Given the description of an element on the screen output the (x, y) to click on. 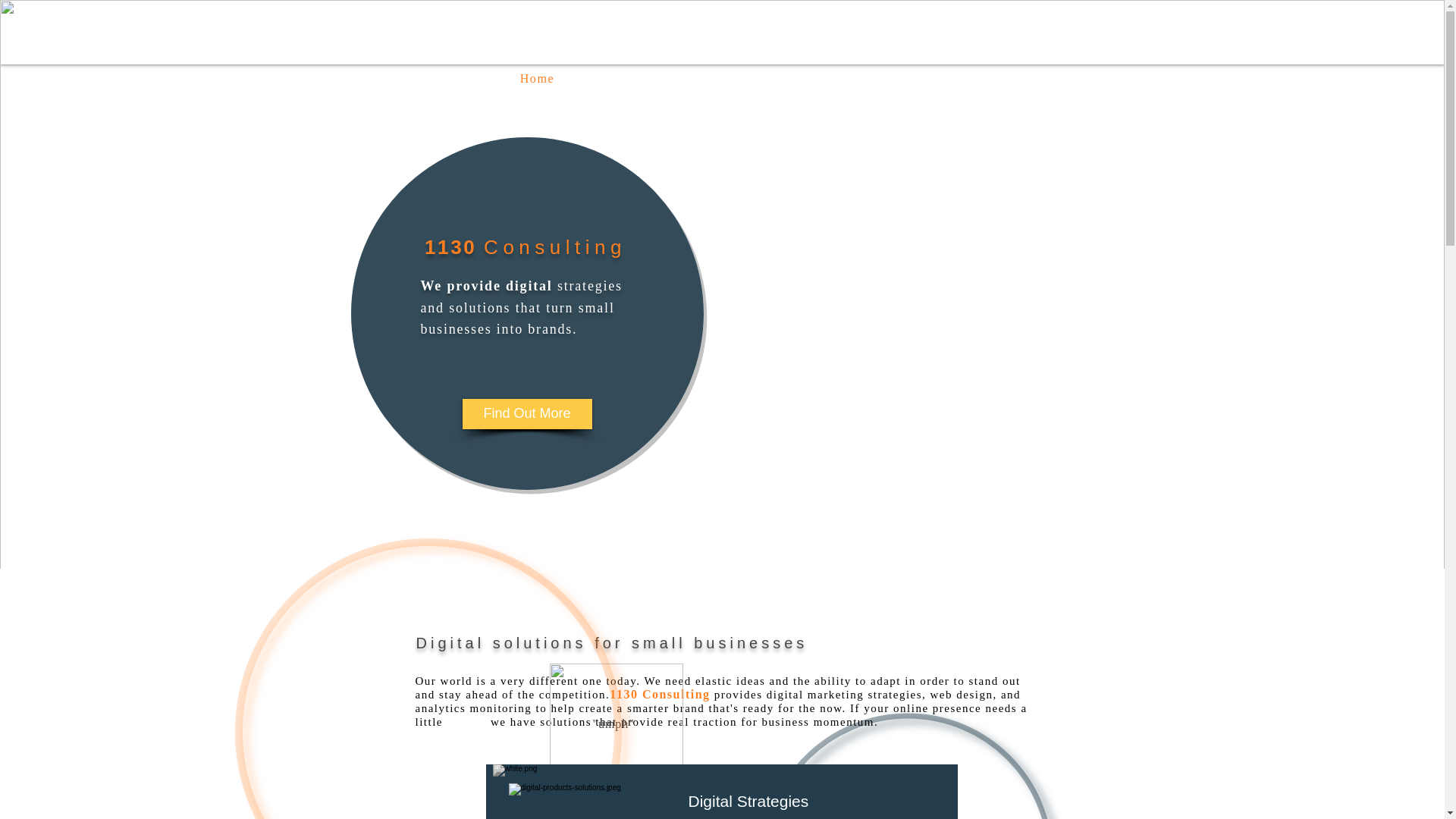
Contact Us (890, 78)
bigstock-close-up-wooden-cut-texture-16723160.jpg (569, 791)
What We Do (655, 78)
Digital Solutions (588, 800)
paint-stroke.gif (615, 729)
About (775, 78)
Home (537, 78)
Find Out More (527, 413)
